Given the description of an element on the screen output the (x, y) to click on. 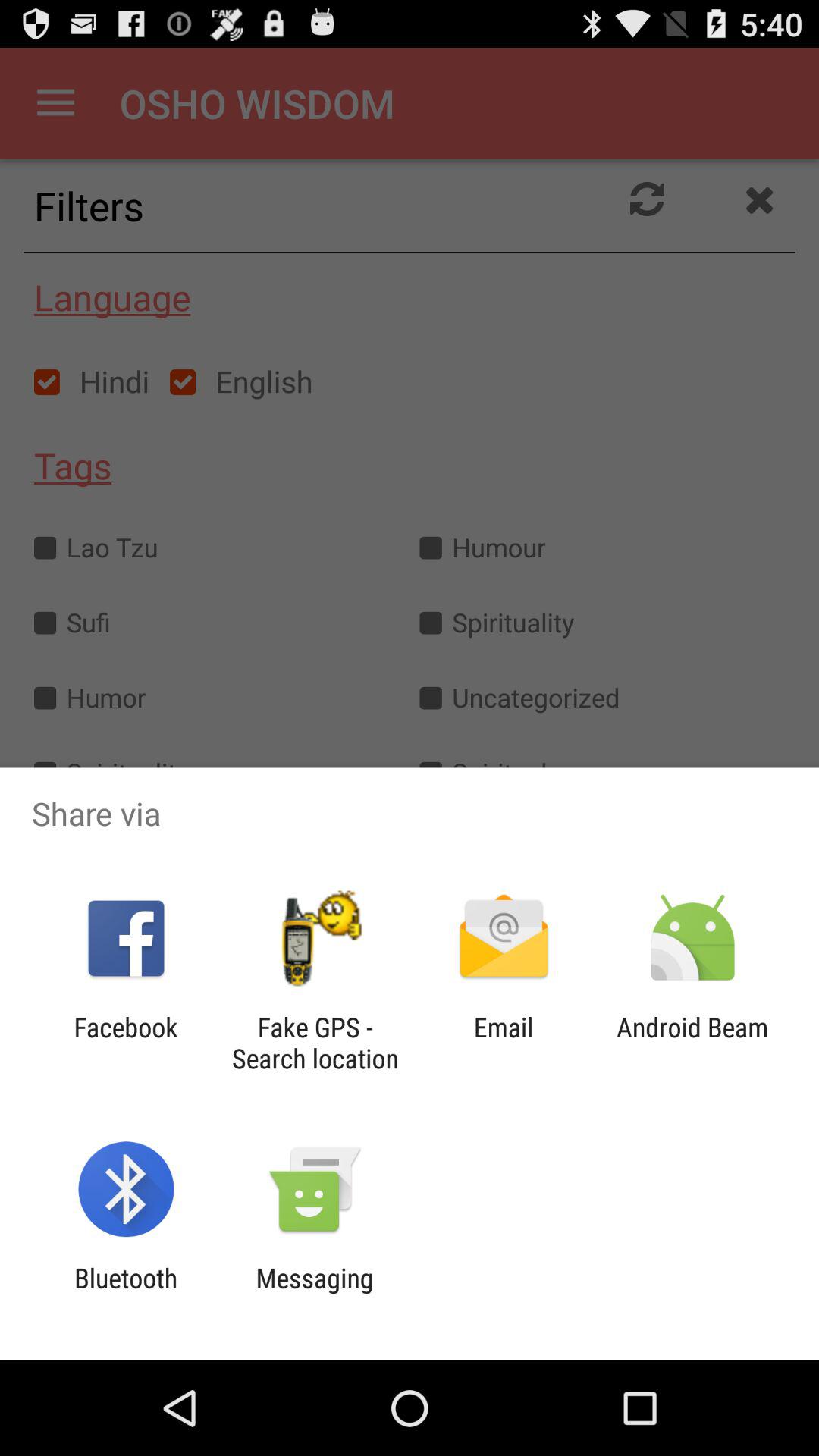
swipe to messaging app (314, 1293)
